Given the description of an element on the screen output the (x, y) to click on. 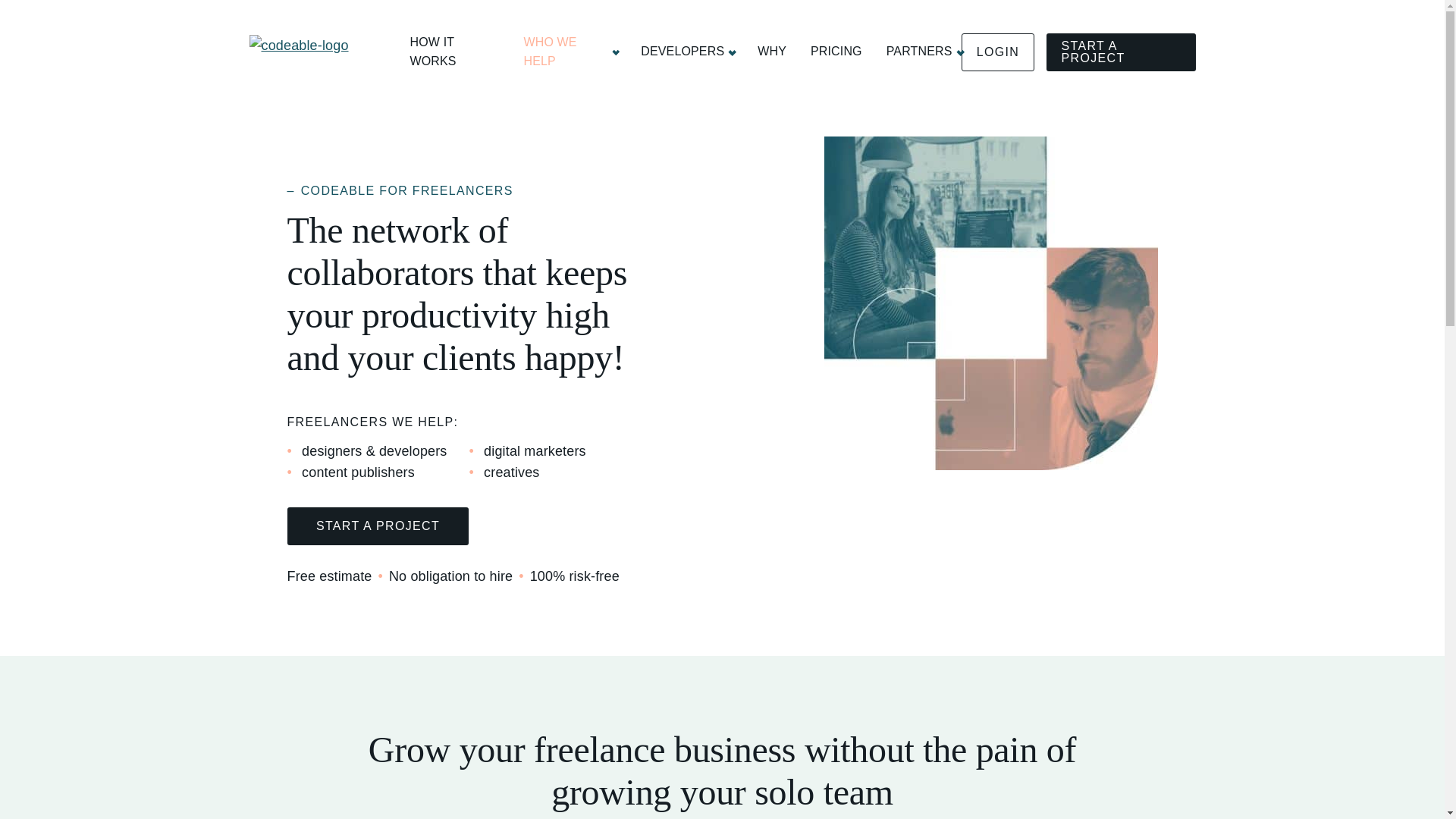
LOGIN (997, 52)
WHY (771, 52)
PRICING (835, 52)
PARTNERS (923, 52)
WHO WE HELP (568, 52)
HOW IT WORKS (454, 52)
START A PROJECT (1120, 52)
START A PROJECT (377, 525)
DEVELOPERS (686, 52)
